Given the description of an element on the screen output the (x, y) to click on. 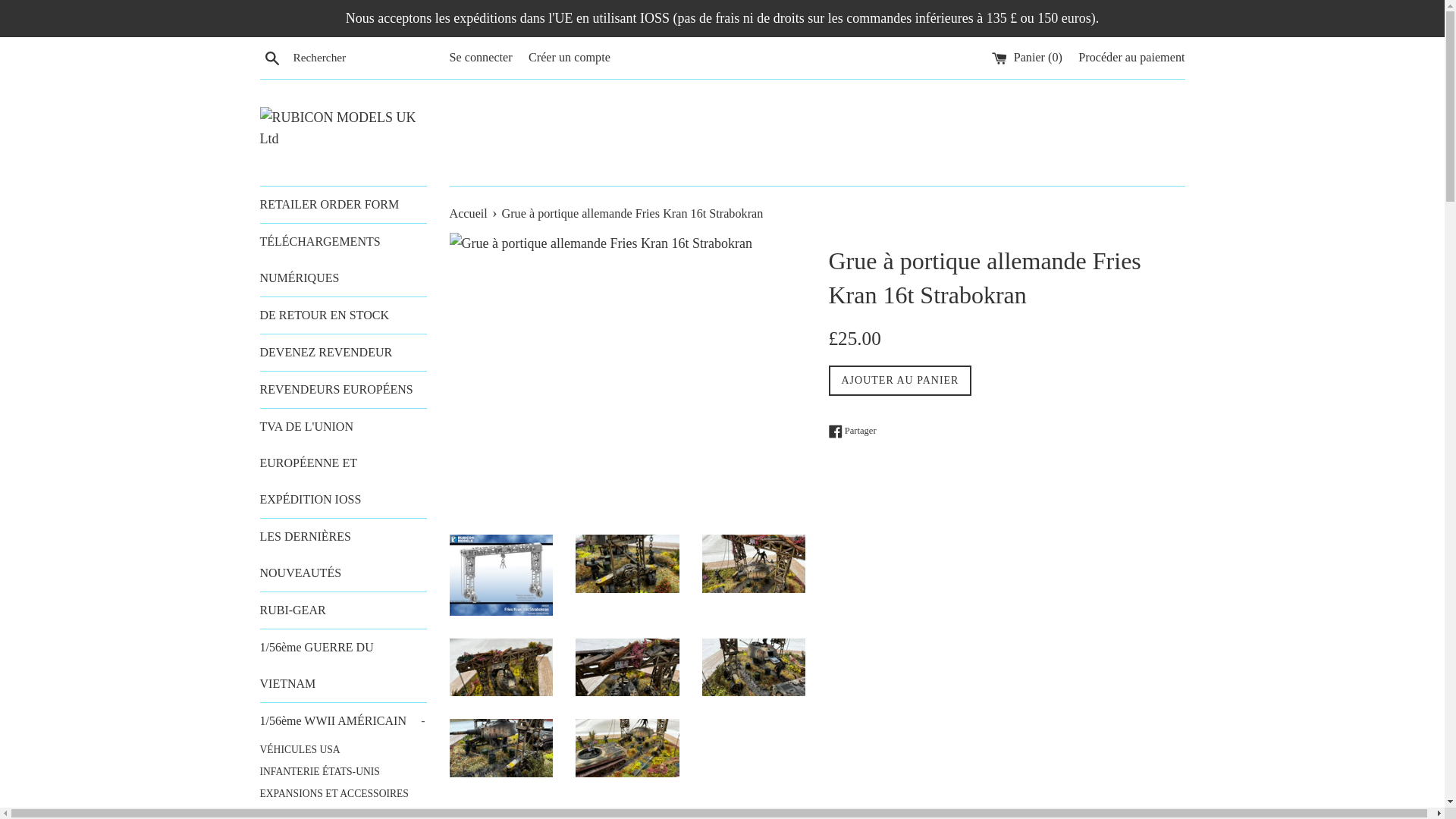
Recherche (271, 56)
EXPANSIONS ET ACCESSOIRES USA (342, 800)
Se connecter (480, 57)
RETAILER ORDER FORM (342, 204)
RUBI-GEAR (342, 610)
DEVENEZ REVENDEUR (342, 352)
DE RETOUR EN STOCK (342, 315)
Partager sur Facebook (852, 430)
